Given the description of an element on the screen output the (x, y) to click on. 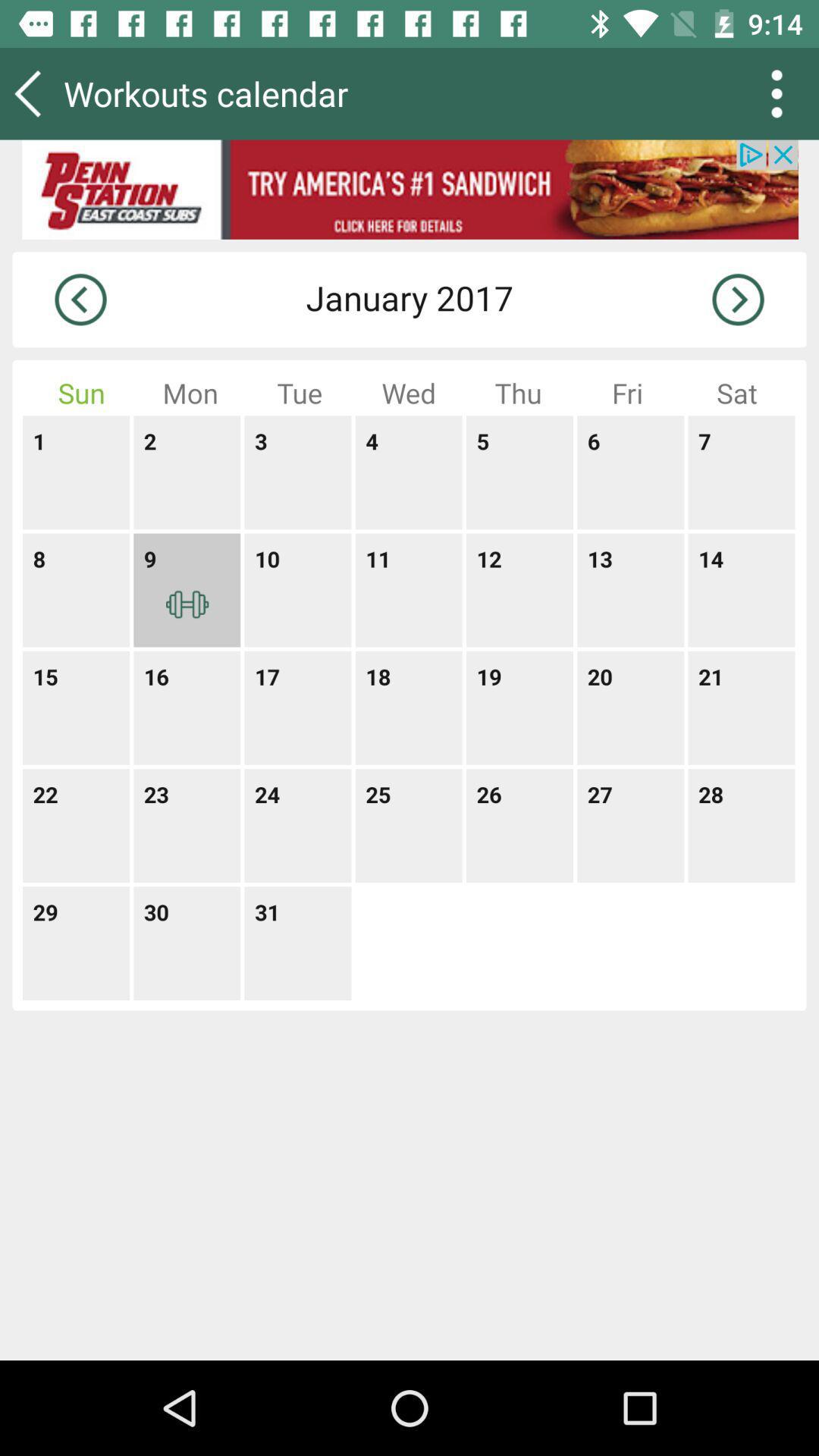
view the advertisement (409, 189)
